Given the description of an element on the screen output the (x, y) to click on. 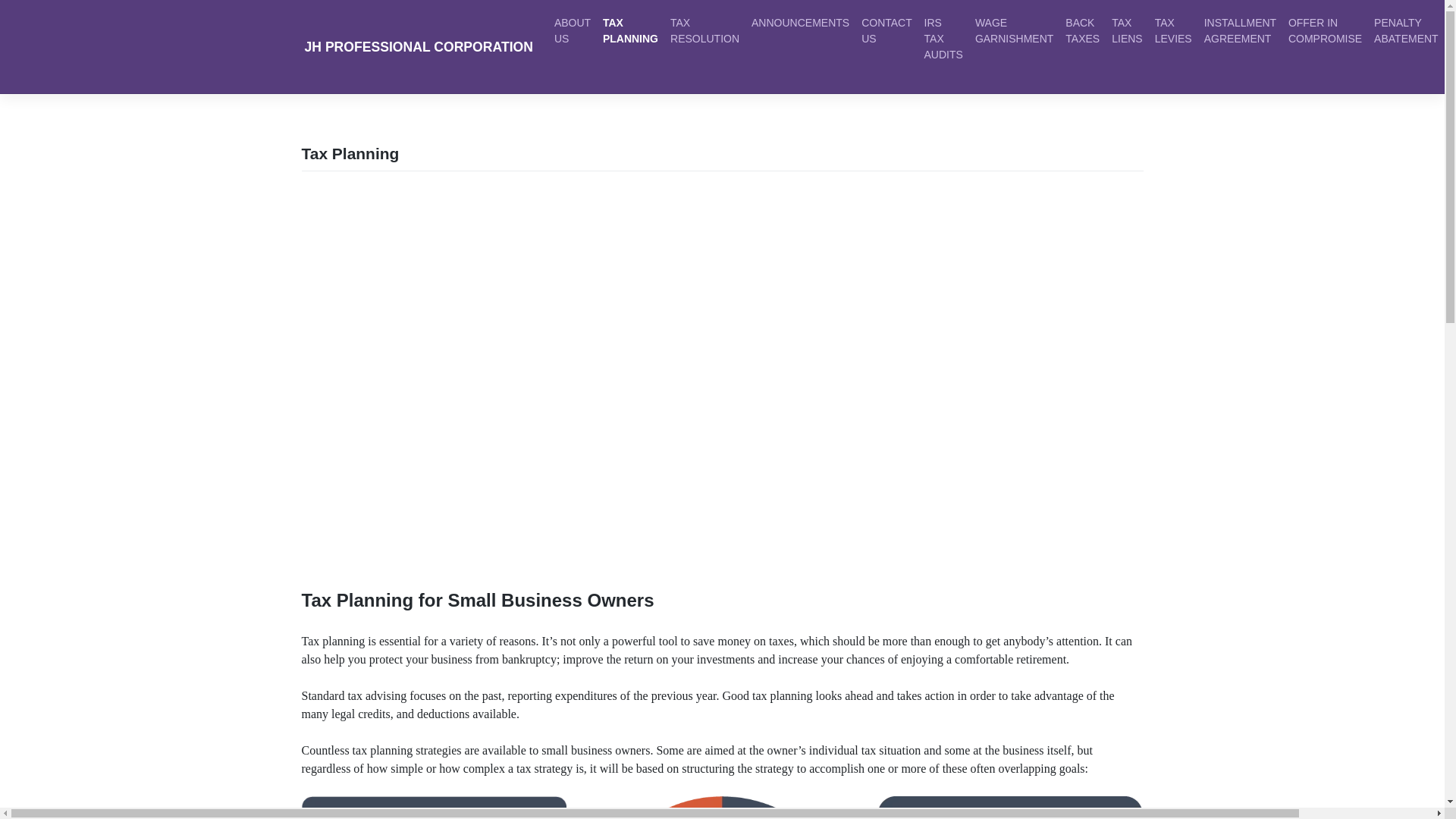
INSTALLMENT AGREEMENT (1240, 31)
ABOUT US (572, 31)
OFFER IN COMPROMISE (1325, 31)
PENALTY ABATEMENT (1406, 31)
TAX LEVIES (1173, 31)
Contact Us (886, 31)
TAX PLANNING (629, 31)
Tax Planning (629, 31)
Wage Garnishment (1014, 31)
ANNOUNCEMENTS (800, 22)
